Given the description of an element on the screen output the (x, y) to click on. 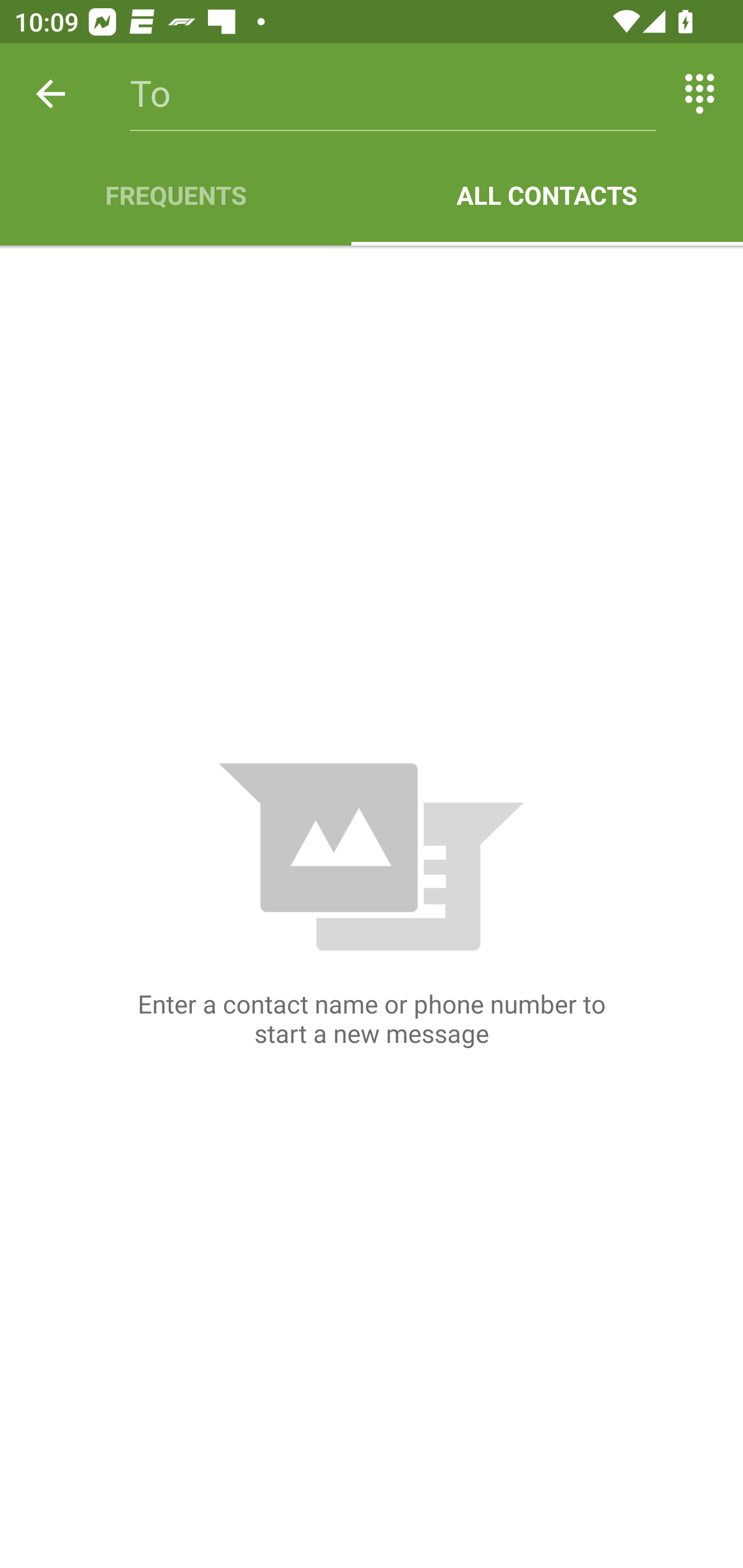
Back (50, 93)
Switch between entering text and numbers (699, 93)
To (393, 93)
FREQUENTS (175, 195)
ALL CONTACTS (547, 195)
